Given the description of an element on the screen output the (x, y) to click on. 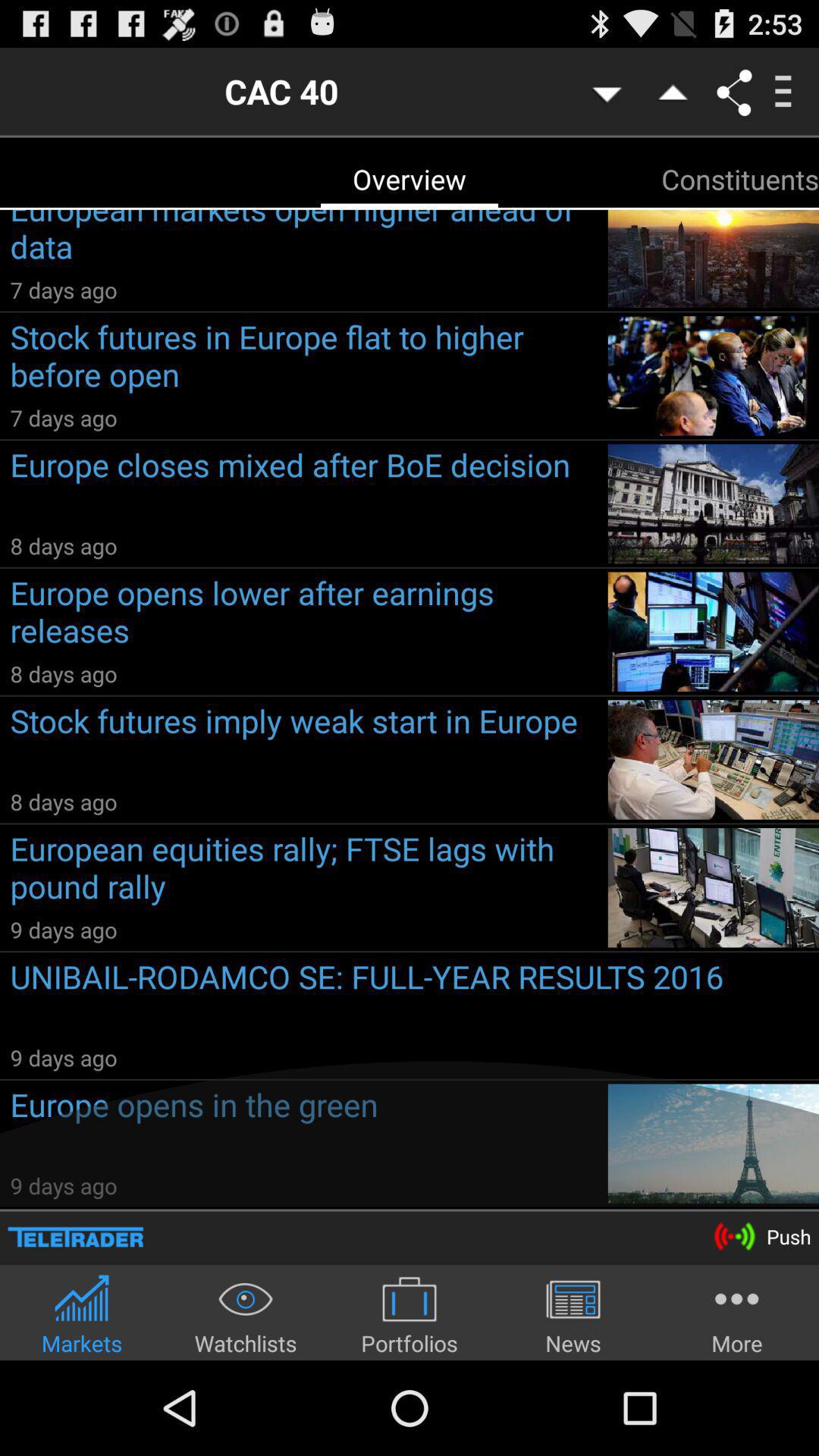
tap the icon next to the portfolios (245, 1314)
